Given the description of an element on the screen output the (x, y) to click on. 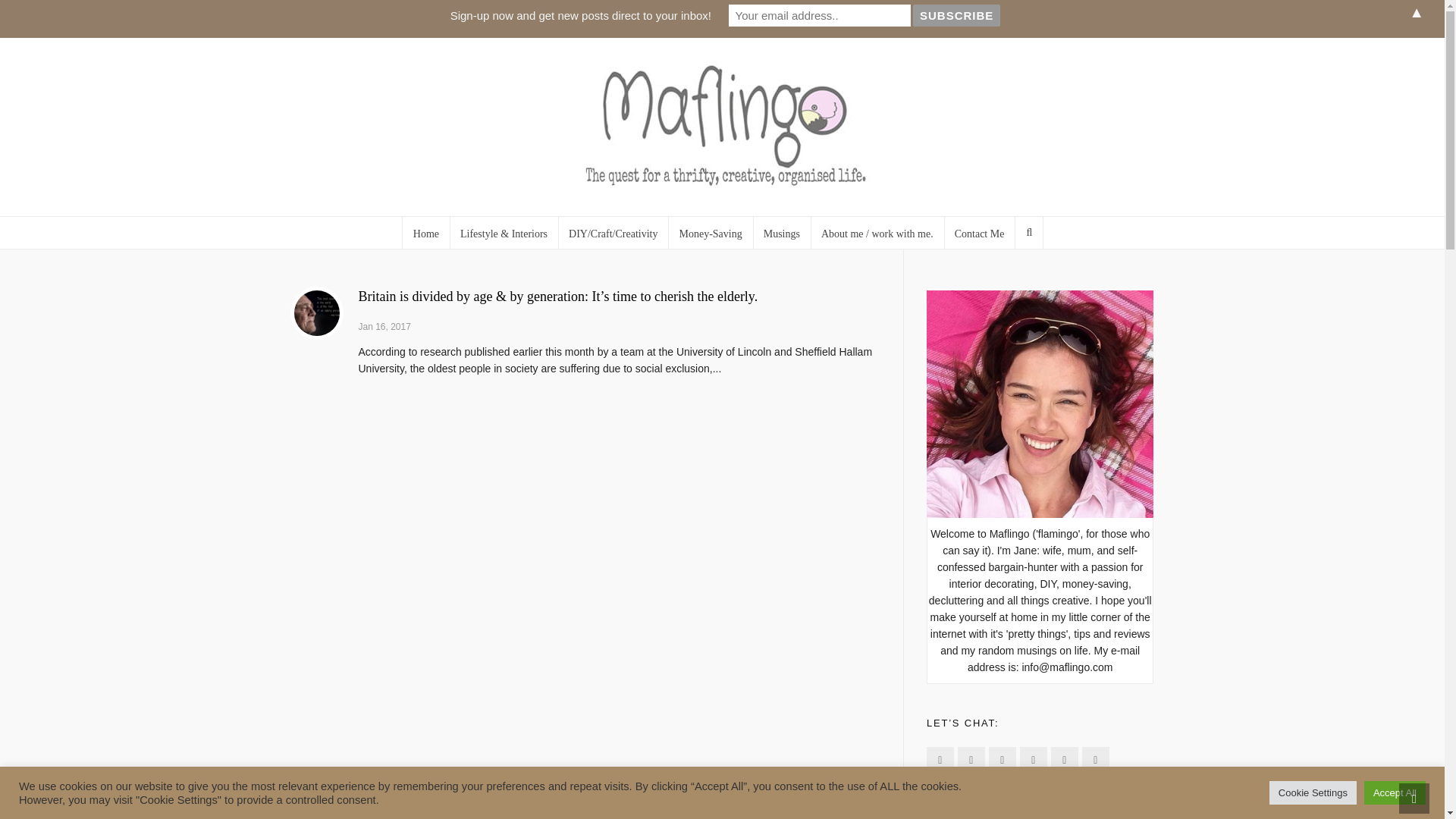
Subscribe (955, 15)
Home (425, 232)
Musings (781, 232)
Jane Taylor Profile Picture (1040, 403)
Contact Me (979, 232)
Money-Saving (710, 232)
